Given the description of an element on the screen output the (x, y) to click on. 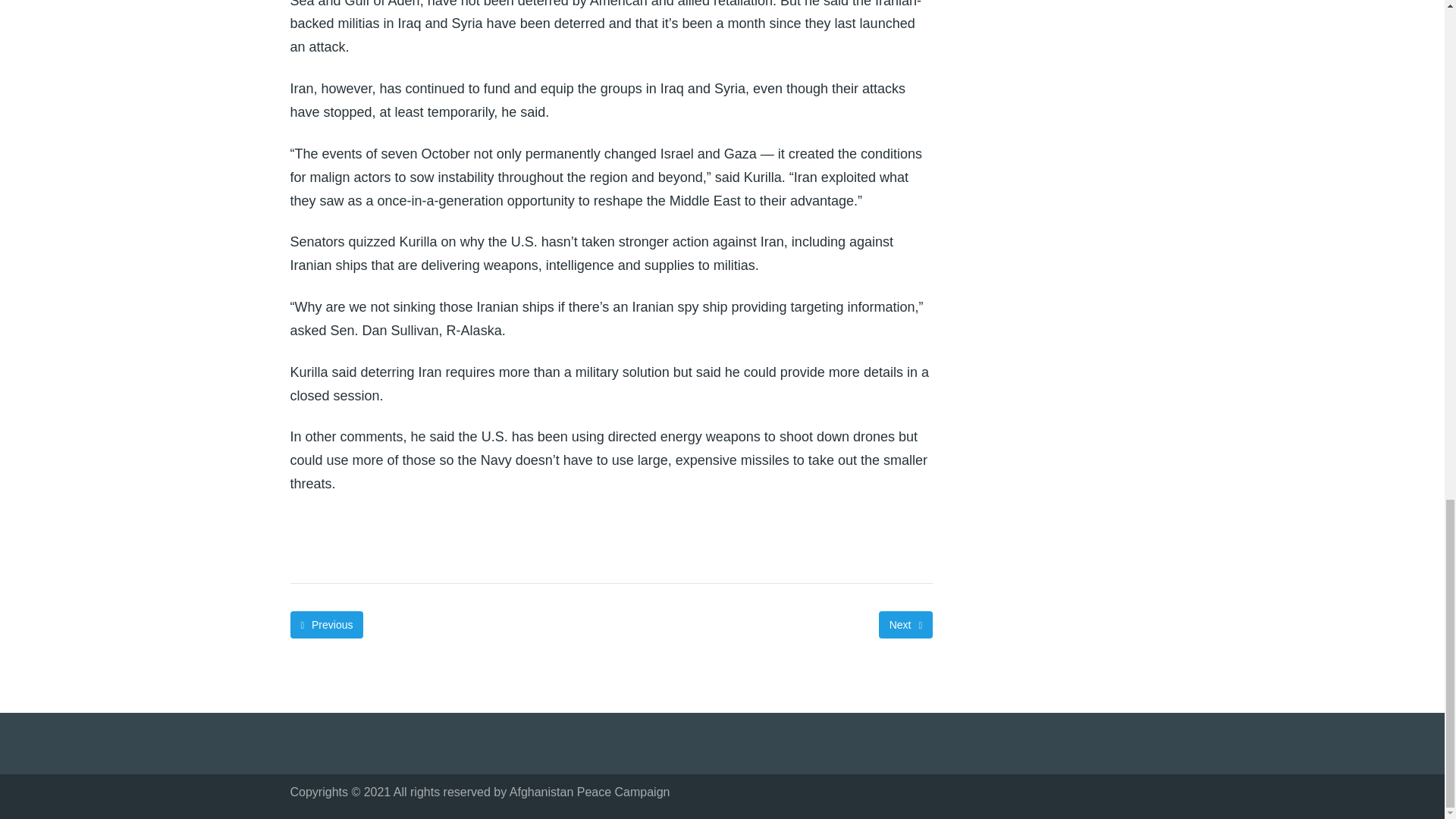
Previous (325, 624)
Next (906, 624)
